Given the description of an element on the screen output the (x, y) to click on. 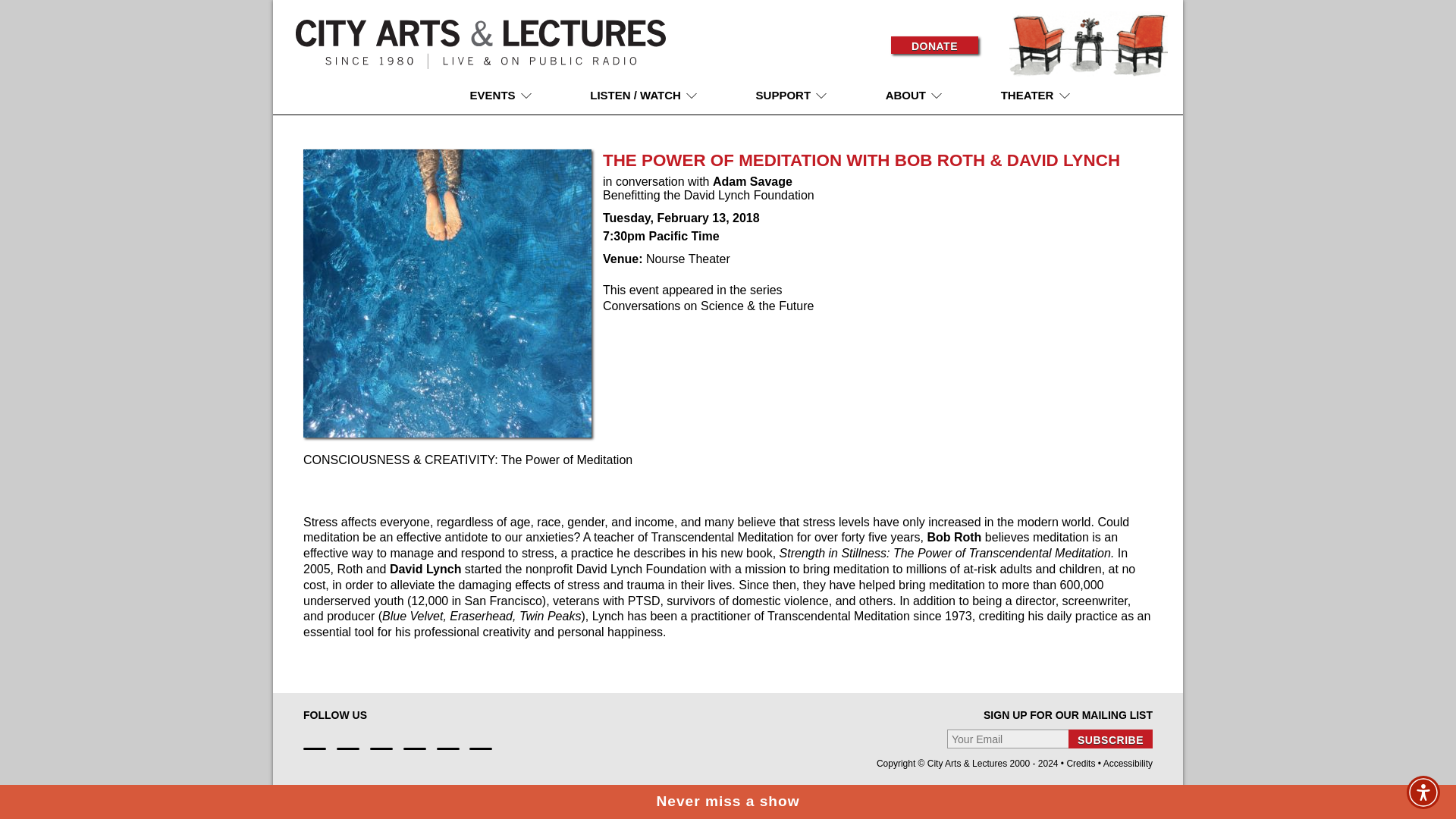
SYDNEY GOLDSTEIN THEATER (1058, 127)
ONLINE (611, 120)
ABOUT US (914, 120)
Accessibility (1128, 763)
THEATER (1036, 94)
DONATE (934, 45)
Credits (1079, 763)
Accessibility Menu (1422, 792)
ABOUT (914, 94)
ABOUT SYNDICATION (665, 233)
DIRECTIONS (1036, 155)
RENTAL INFO (1038, 176)
SOCIAL STUDIES (532, 254)
SUPPORT (792, 94)
BROADCAST SCHEDULE (641, 171)
